Given the description of an element on the screen output the (x, y) to click on. 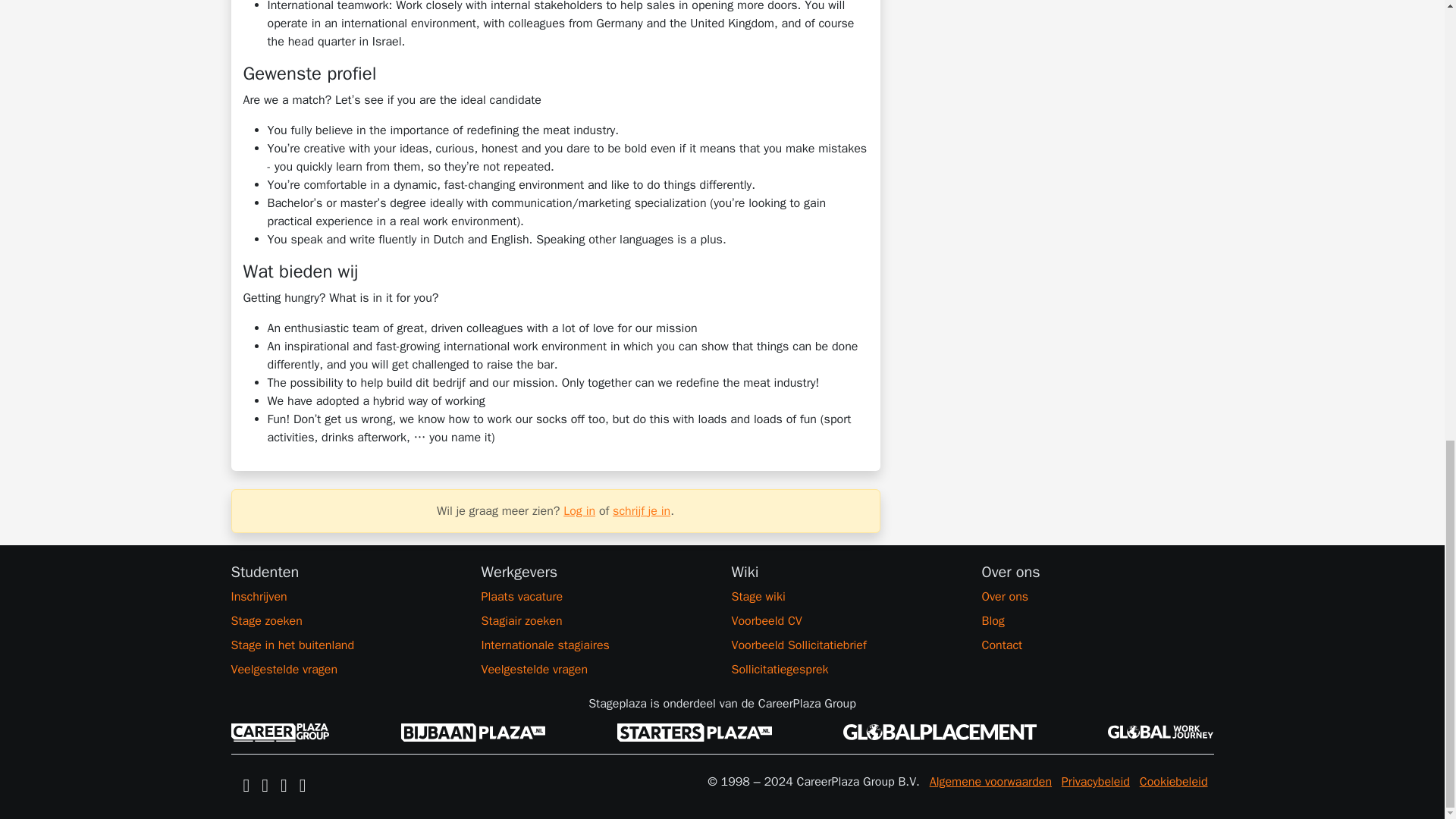
Voorbeeld CV (846, 620)
Stage in het buitenland (346, 645)
Stagiair zoeken (596, 620)
Veelgestelde vragen (346, 669)
Plaats vacature (596, 597)
Stage zoeken (346, 620)
schrijf je in (640, 510)
Veelgestelde vragen (596, 669)
Stage wiki (846, 597)
Inschrijven (346, 597)
